Given the description of an element on the screen output the (x, y) to click on. 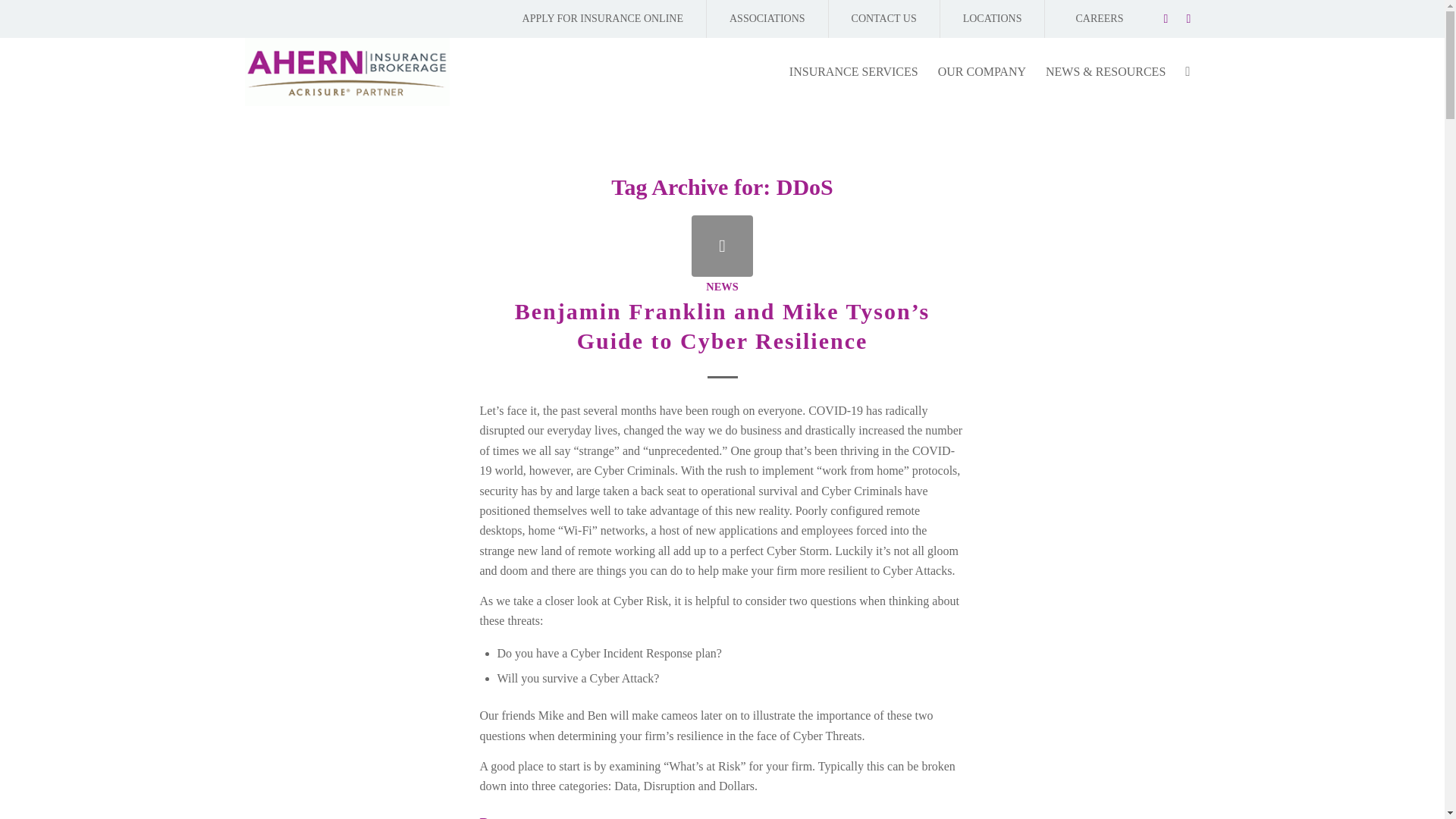
INSURANCE SERVICES (853, 71)
LOCATIONS (992, 18)
LOCATIONS (992, 18)
INSURANCE SERVICES (853, 71)
APPLY FOR INSURANCE ONLINE (602, 18)
OUR COMPANY (981, 71)
NEWS (722, 286)
ASSOCIATIONS (767, 18)
OUR COMPANY (981, 71)
ASSOCIATIONS (767, 18)
